Given the description of an element on the screen output the (x, y) to click on. 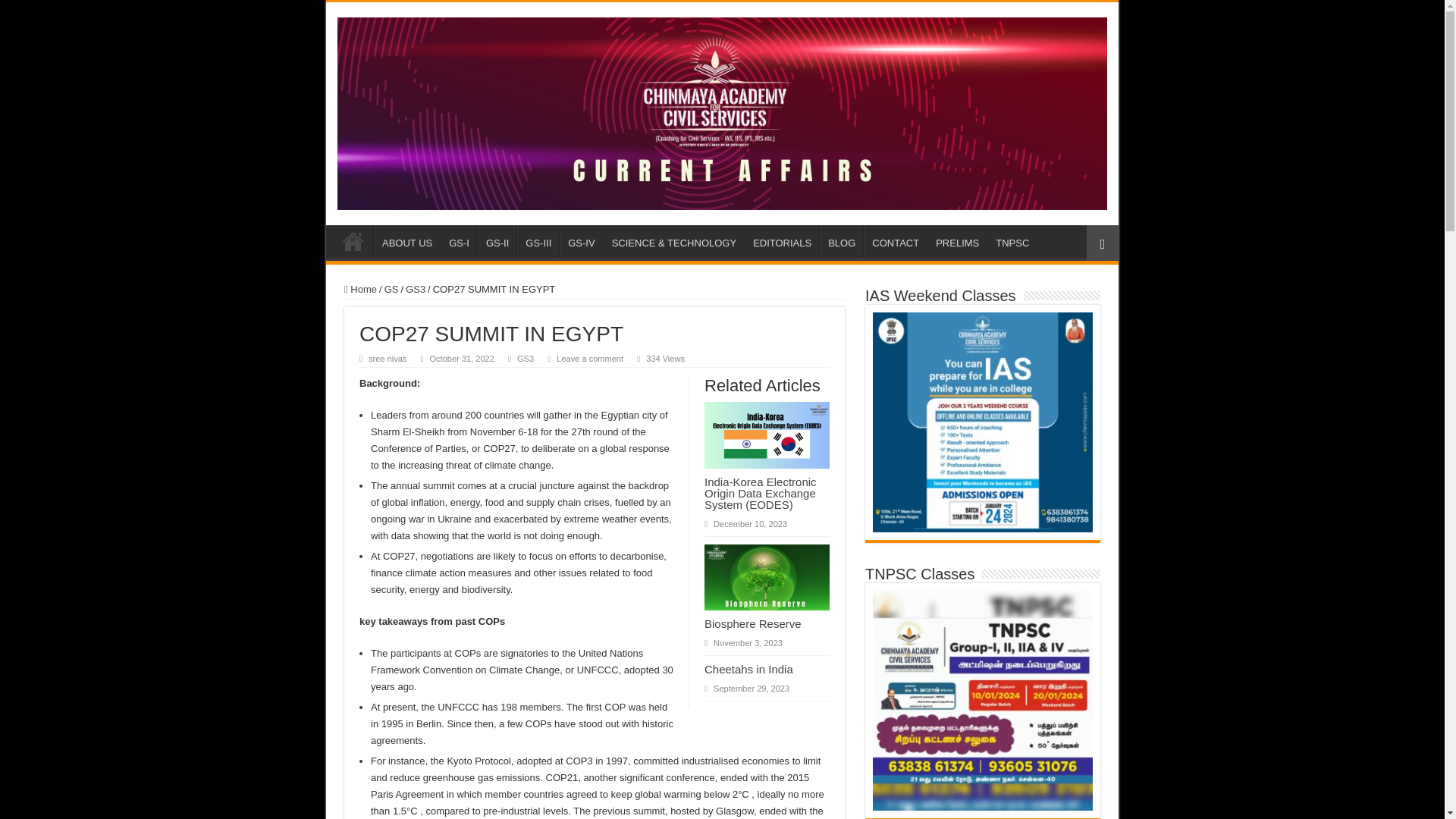
TNPSC (1011, 241)
sree nivas (387, 358)
ABOUT US (406, 241)
GS3 (525, 358)
GS (391, 288)
Cheetahs in India (748, 668)
EDITORIALS (781, 241)
CONTACT (894, 241)
GS-III (537, 241)
BLOG (841, 241)
GS-II (496, 241)
GS-I (459, 241)
GS3 (415, 288)
HOME (352, 241)
Leave a comment (589, 358)
